Given the description of an element on the screen output the (x, y) to click on. 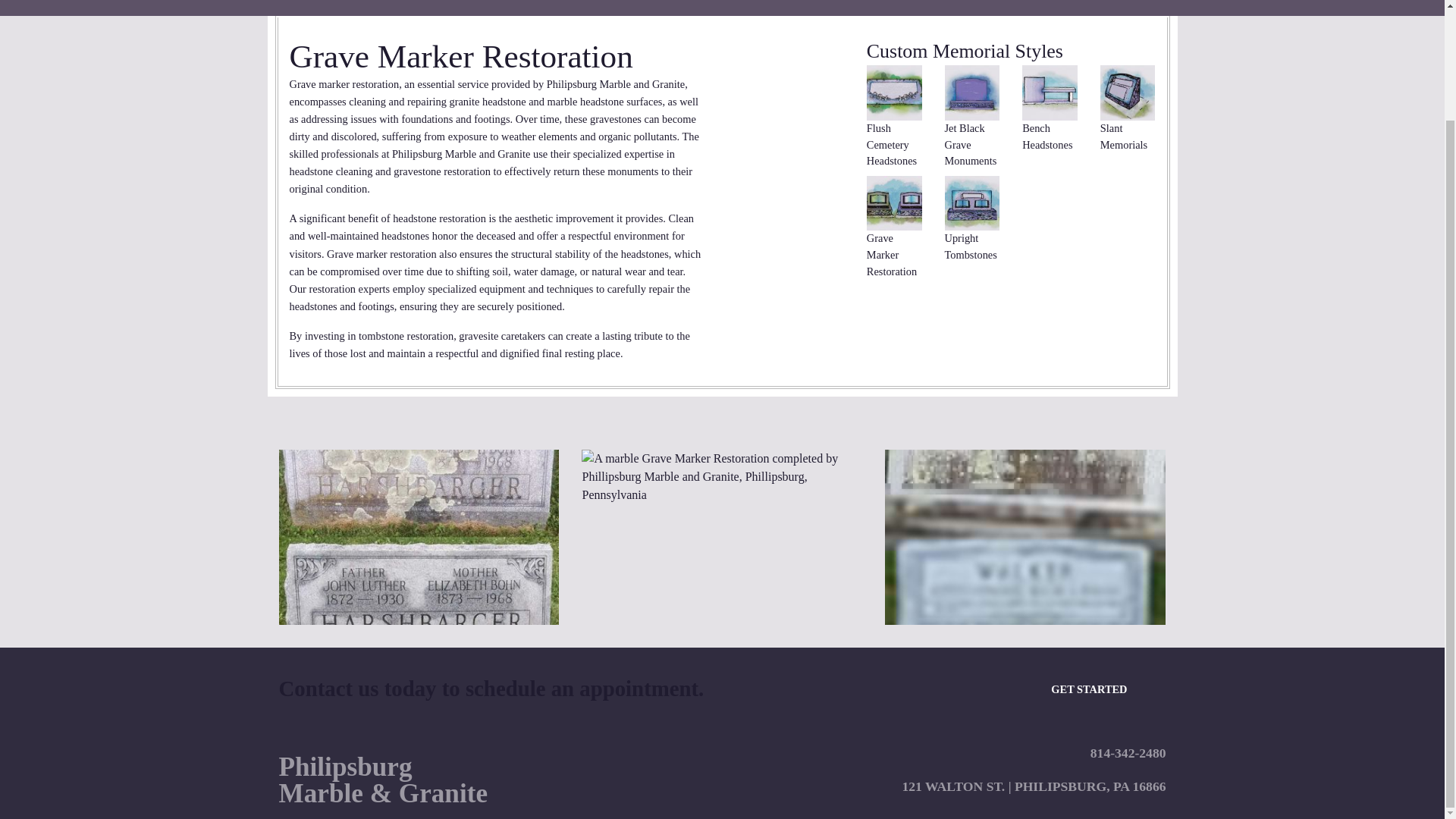
GET STARTED (1088, 689)
814-342-2480 (1128, 752)
Custom Memorial Styles (964, 51)
